Given the description of an element on the screen output the (x, y) to click on. 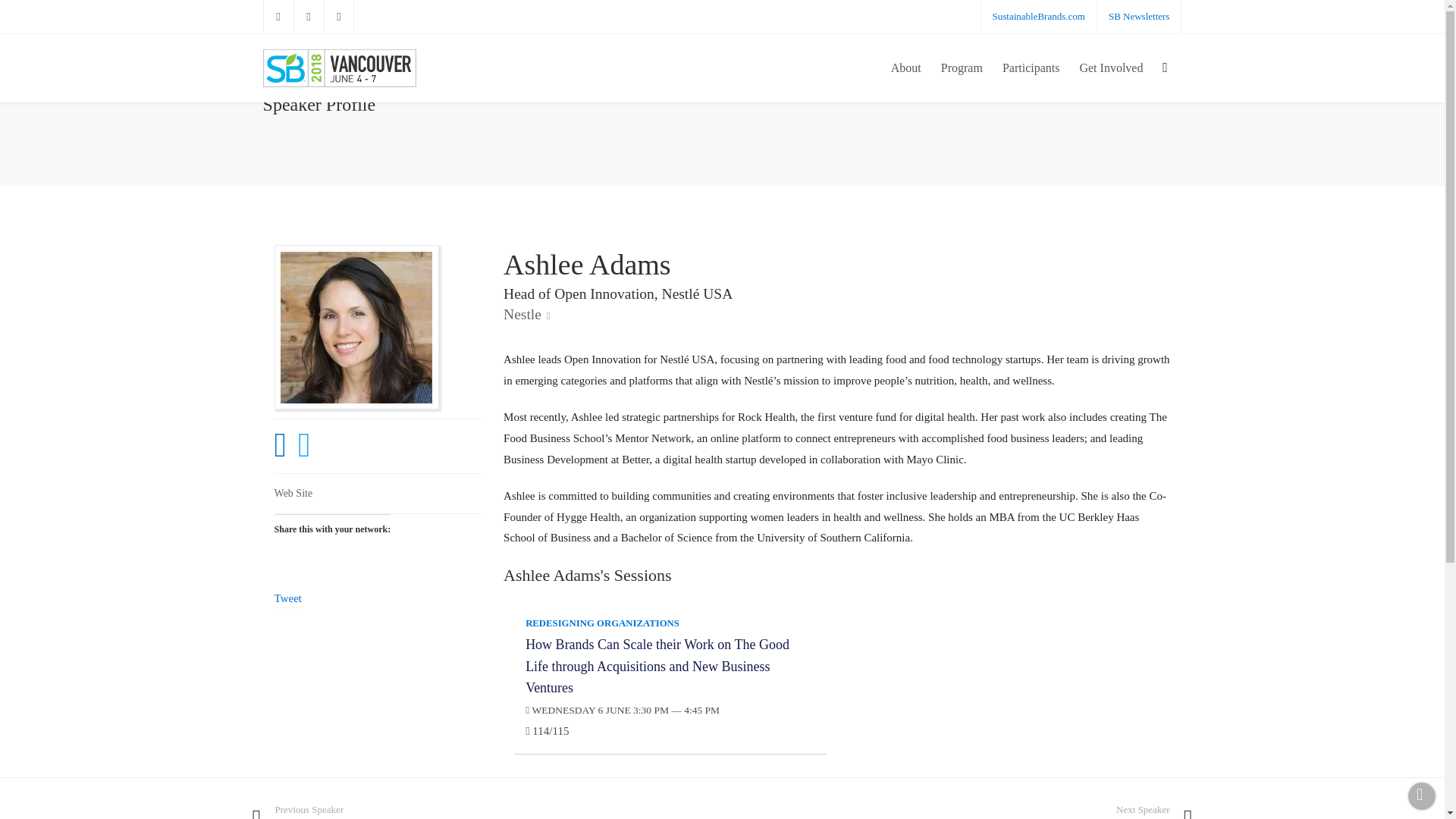
Get Involved (1110, 68)
SB Newsletters (1138, 16)
Participants (1031, 68)
Michael Conway (481, 809)
SustainableBrands.com (1038, 16)
Sara Blenkhorn (962, 809)
Program (961, 68)
